Given the description of an element on the screen output the (x, y) to click on. 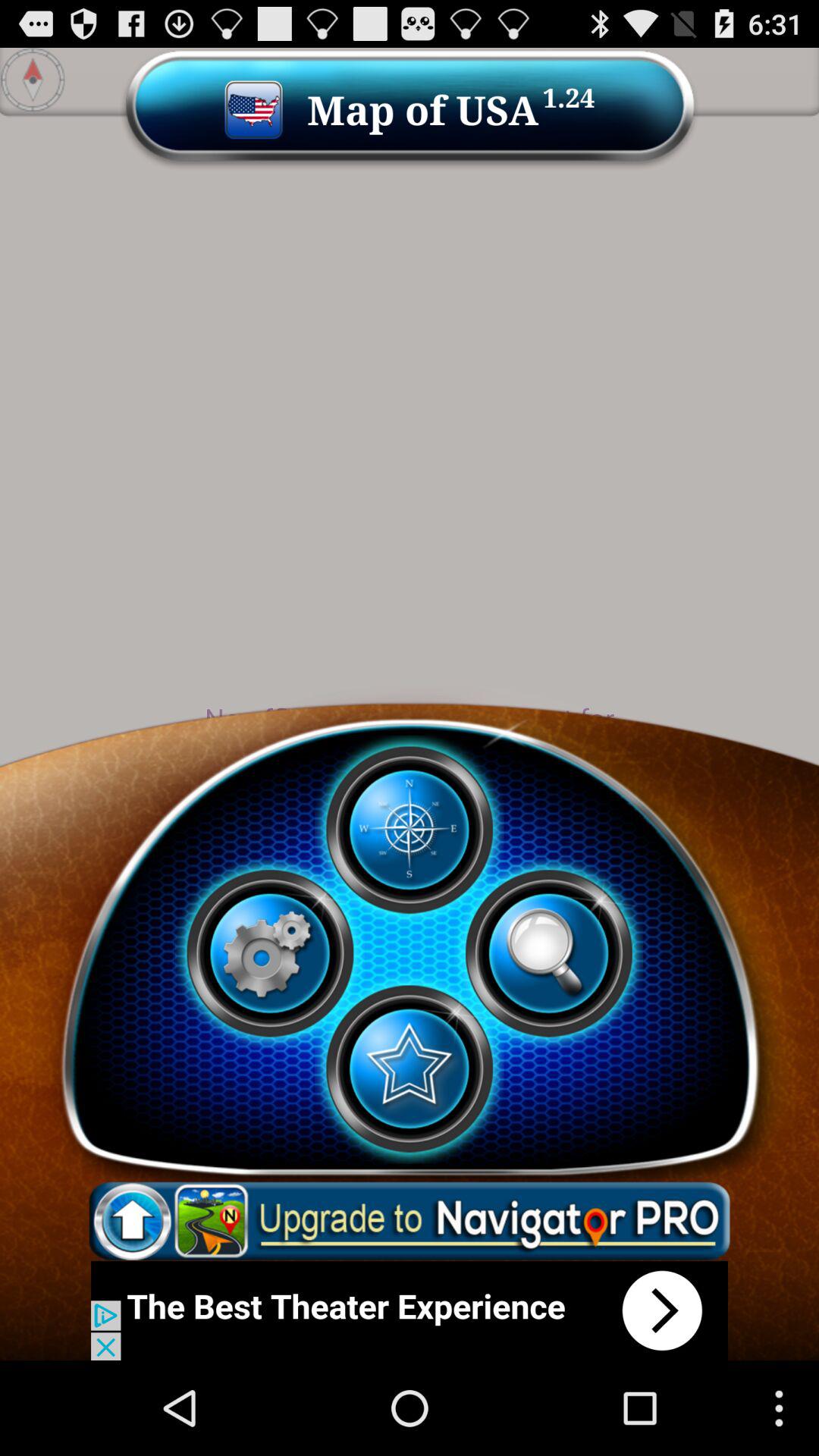
search option (548, 953)
